Given the description of an element on the screen output the (x, y) to click on. 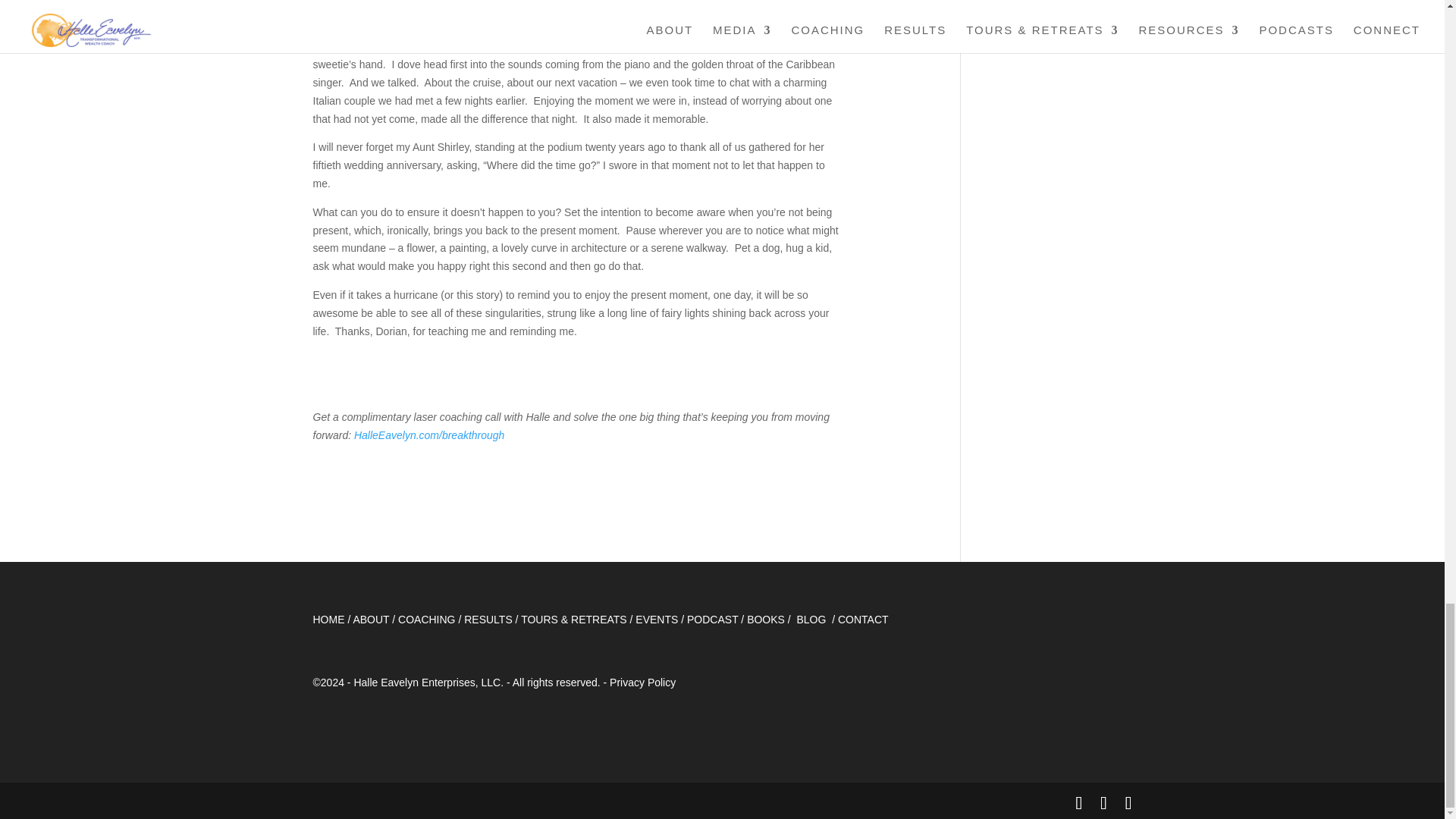
EVENTS (656, 619)
CONTACT  (864, 619)
PODCAST (712, 619)
COACHING (425, 619)
BLOG (810, 619)
RESULTS (488, 619)
ABOUT (370, 619)
BOOKS (765, 619)
Privacy Policy (642, 682)
HOME (328, 619)
